Given the description of an element on the screen output the (x, y) to click on. 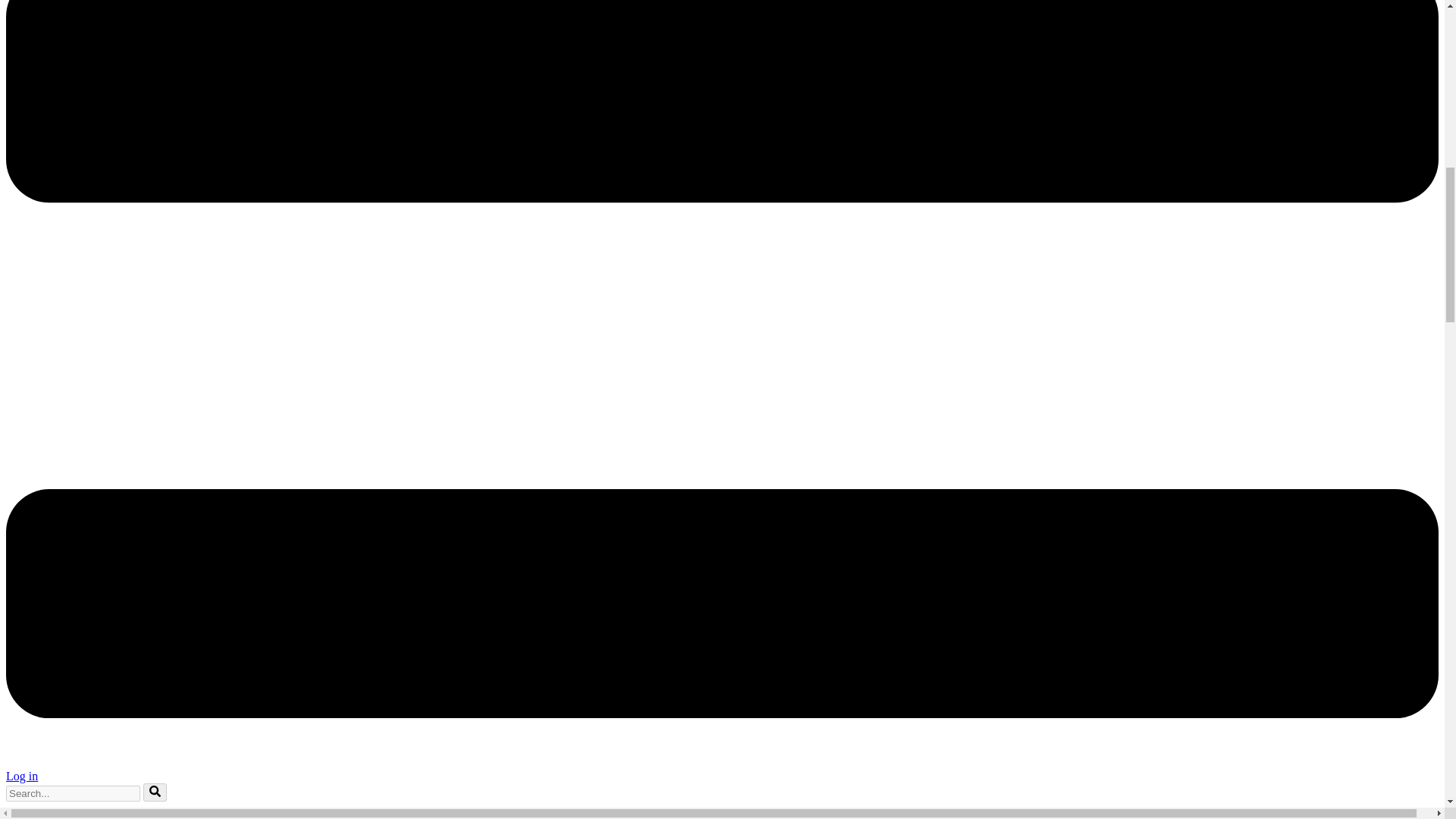
Latest (50, 816)
Log in (21, 775)
